Given the description of an element on the screen output the (x, y) to click on. 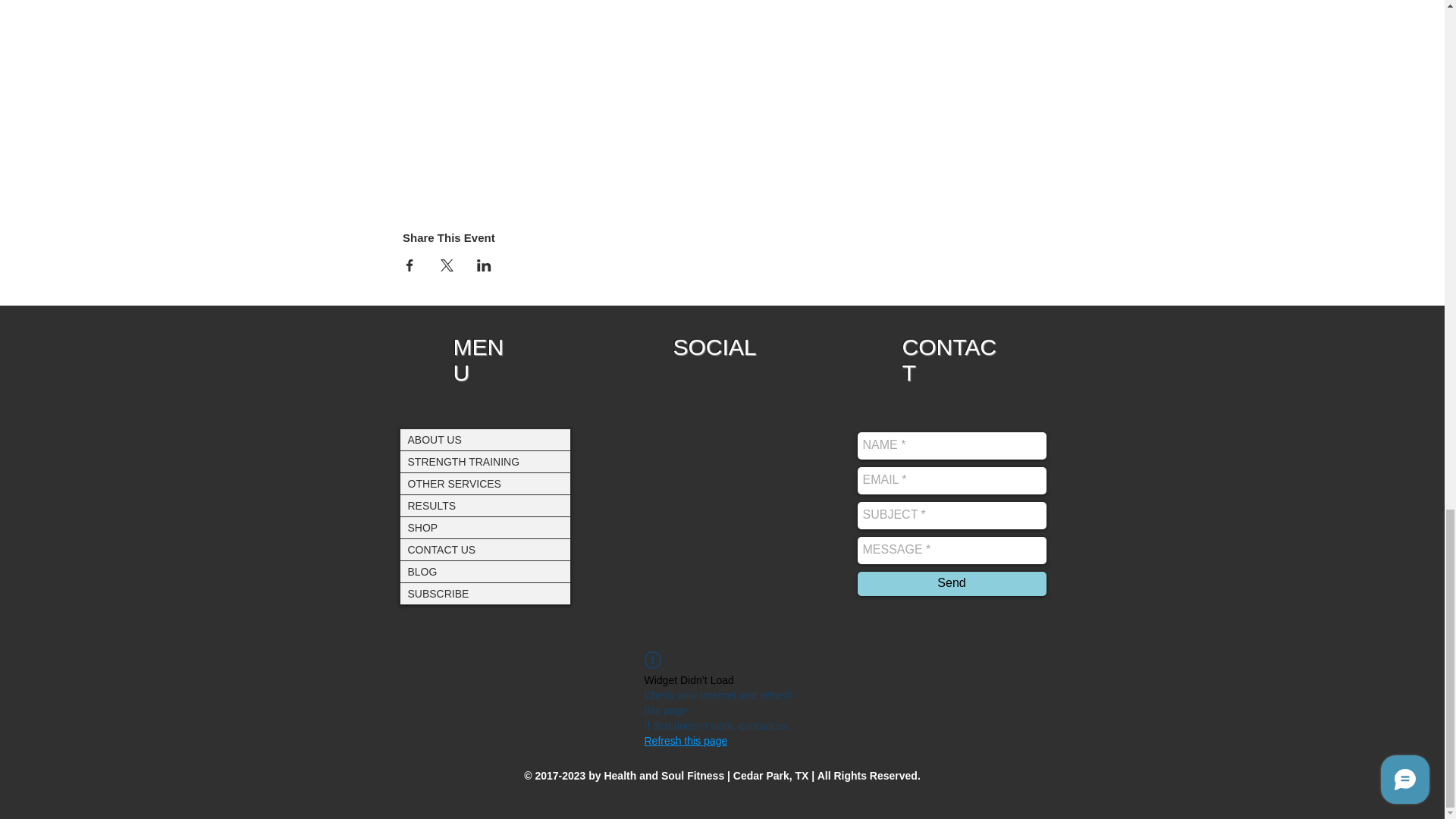
SHOP (485, 527)
ABOUT US (485, 439)
SUBSCRIBE (485, 592)
RESULTS (485, 504)
STRENGTH TRAINING (485, 460)
CONTACT US (485, 548)
BLOG (485, 571)
